Given the description of an element on the screen output the (x, y) to click on. 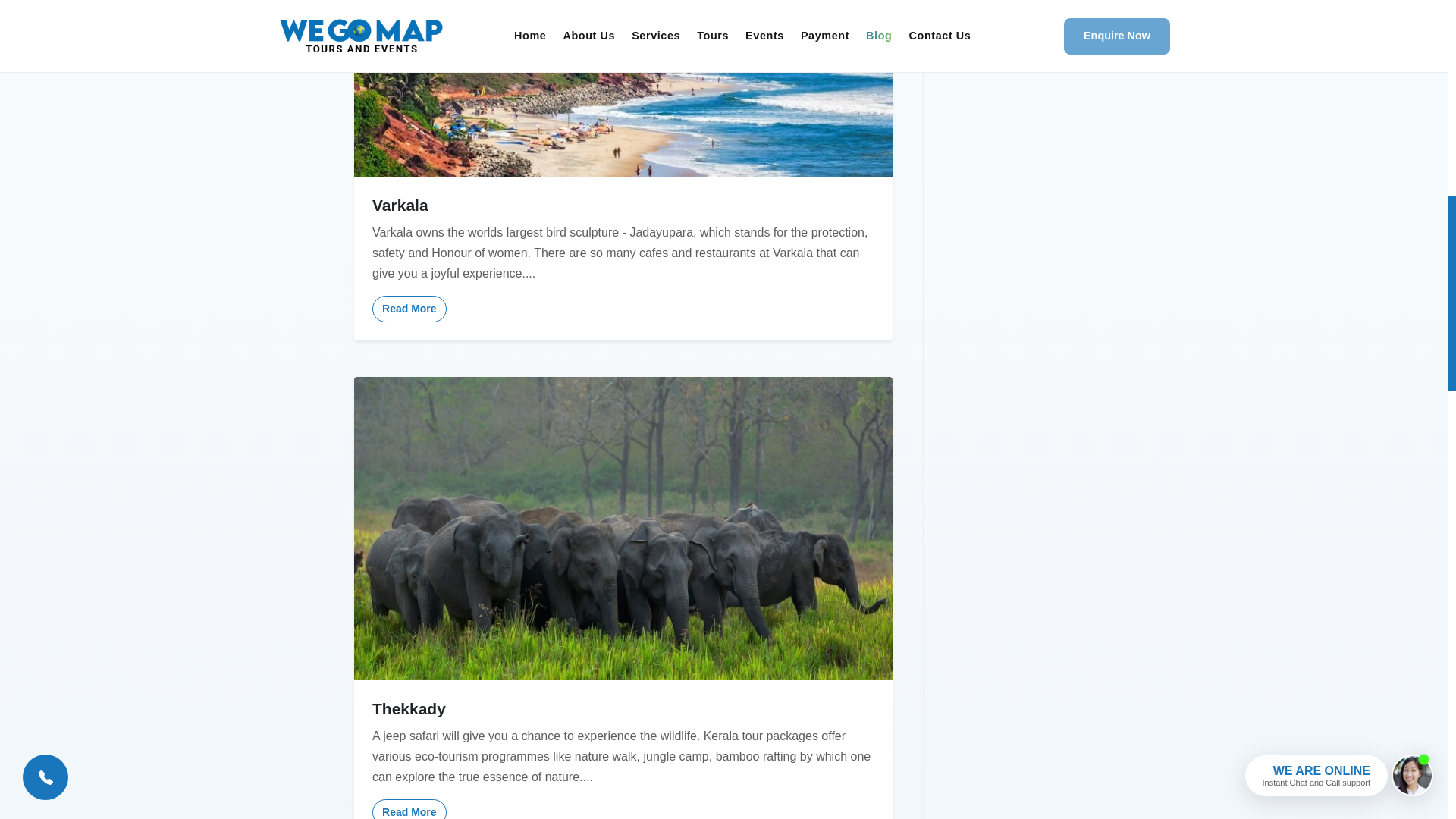
Thekkady (623, 708)
Read More (409, 809)
Read More (409, 308)
Varkala (623, 204)
